Given the description of an element on the screen output the (x, y) to click on. 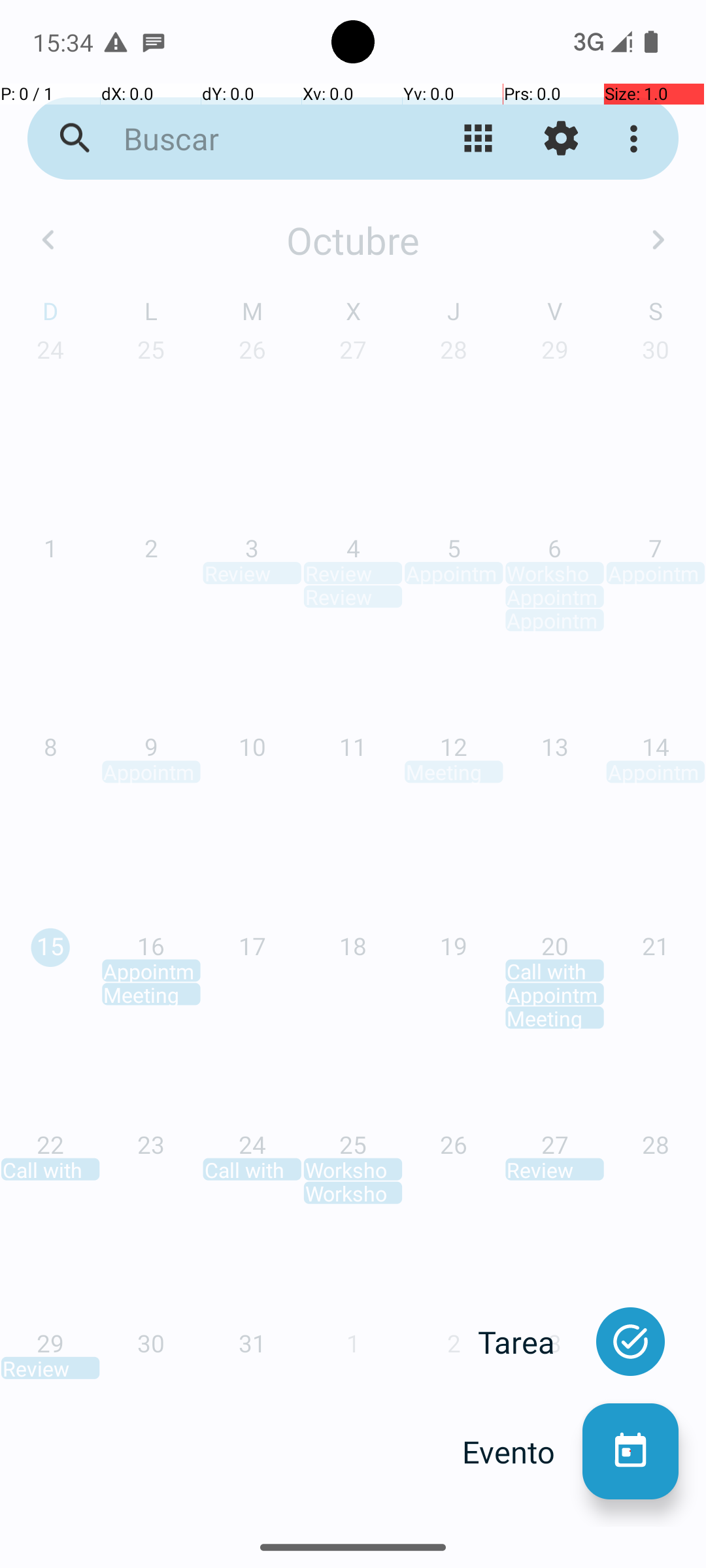
Tarea Element type: android.widget.TextView (529, 1341)
Evento Element type: android.widget.TextView (522, 1451)
